Given the description of an element on the screen output the (x, y) to click on. 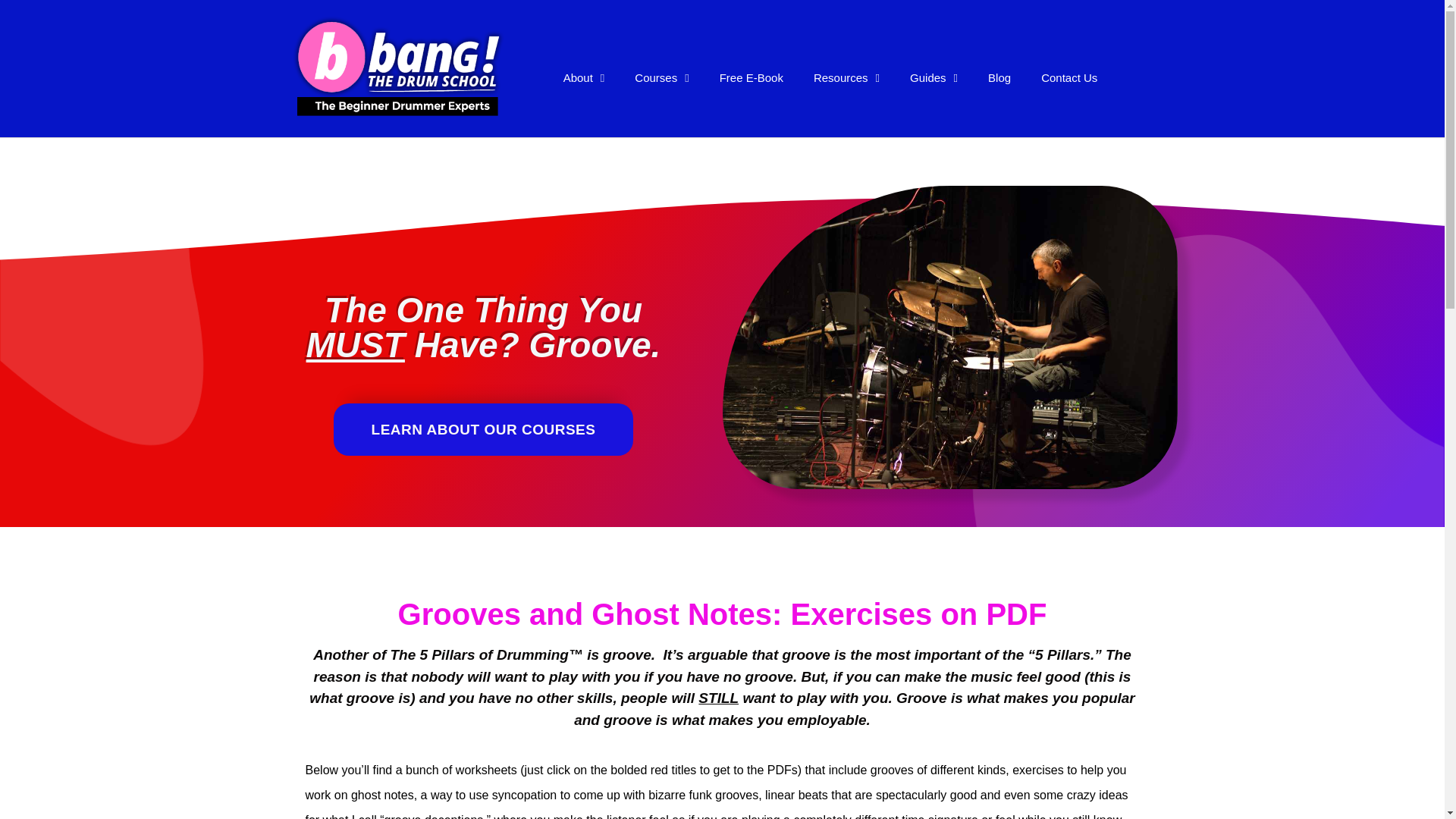
Free E-Book (750, 77)
About (584, 77)
Resources (846, 77)
Courses (661, 77)
